Given the description of an element on the screen output the (x, y) to click on. 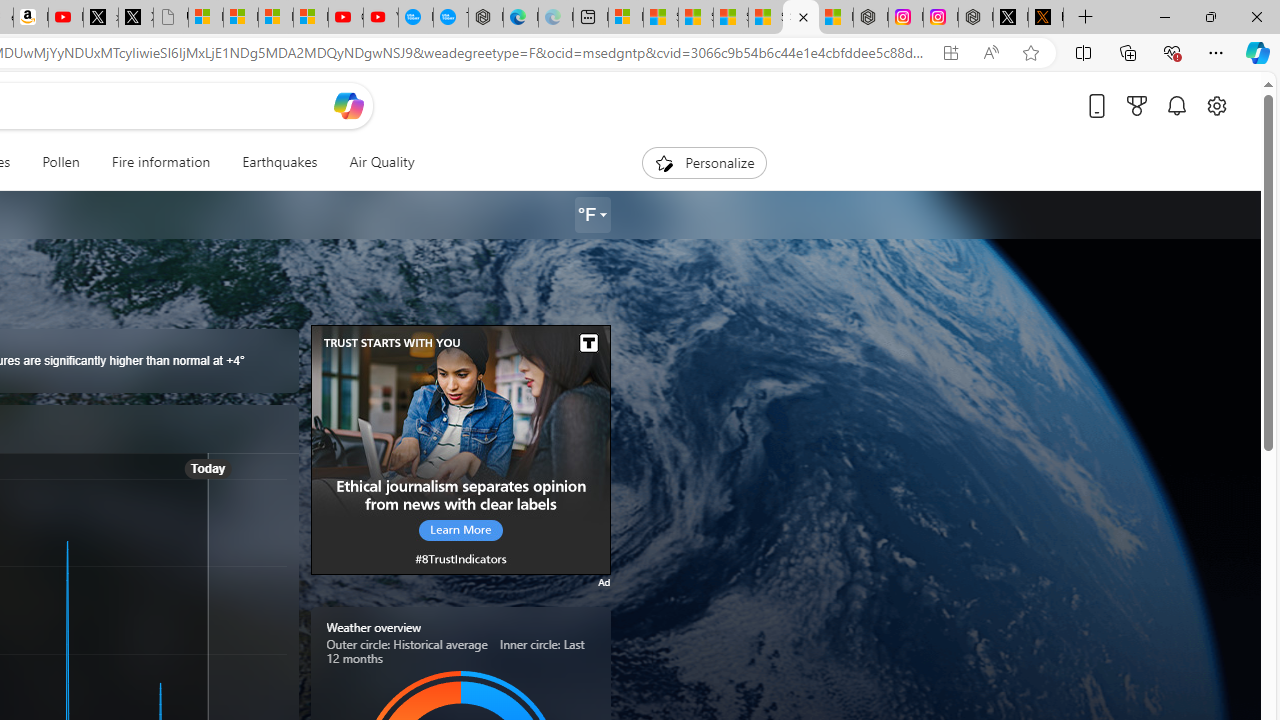
Nordace (@NordaceOfficial) / X (1010, 17)
Air Quality (373, 162)
